Given the description of an element on the screen output the (x, y) to click on. 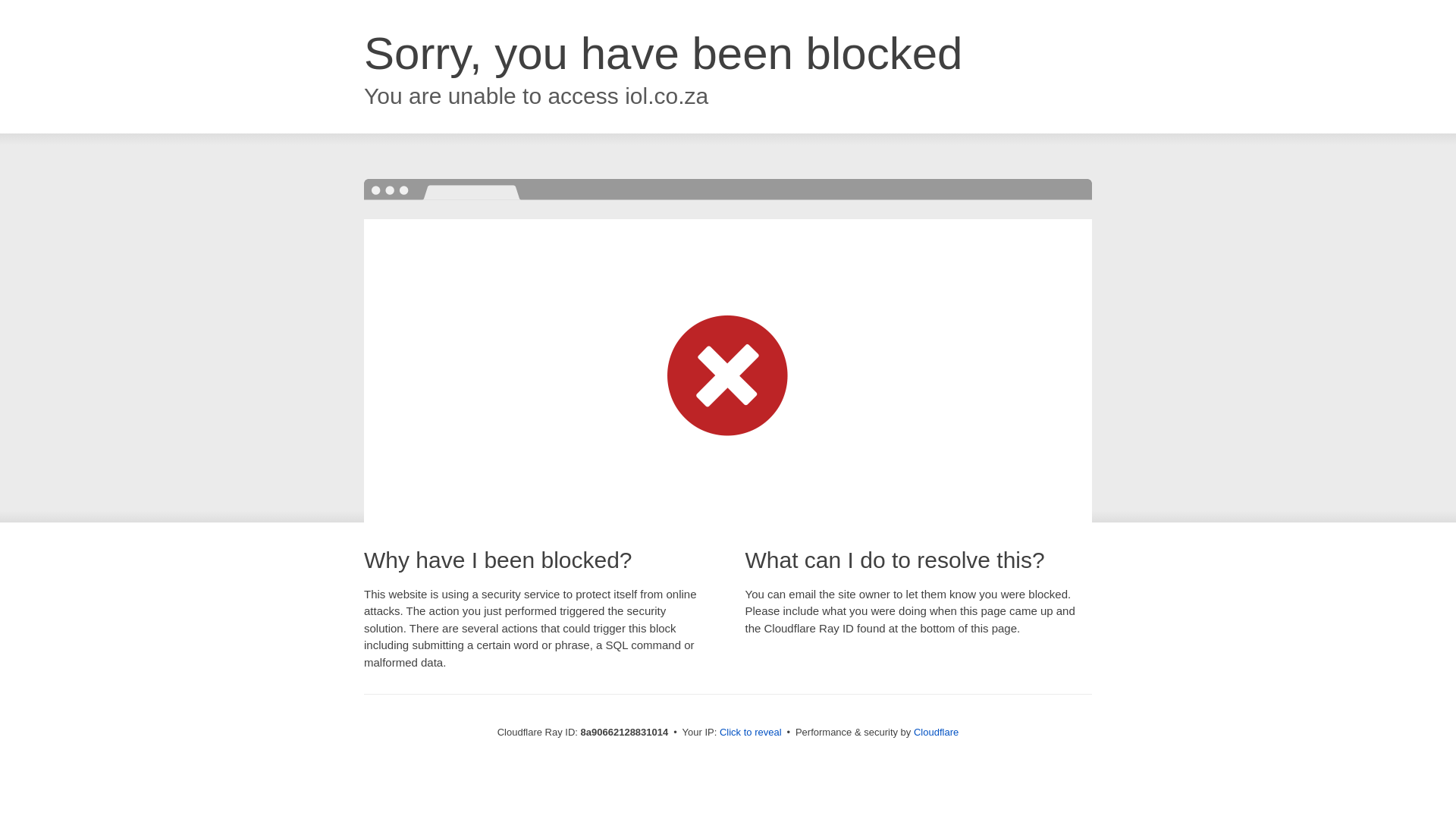
Click to reveal (750, 732)
Cloudflare (936, 731)
